Given the description of an element on the screen output the (x, y) to click on. 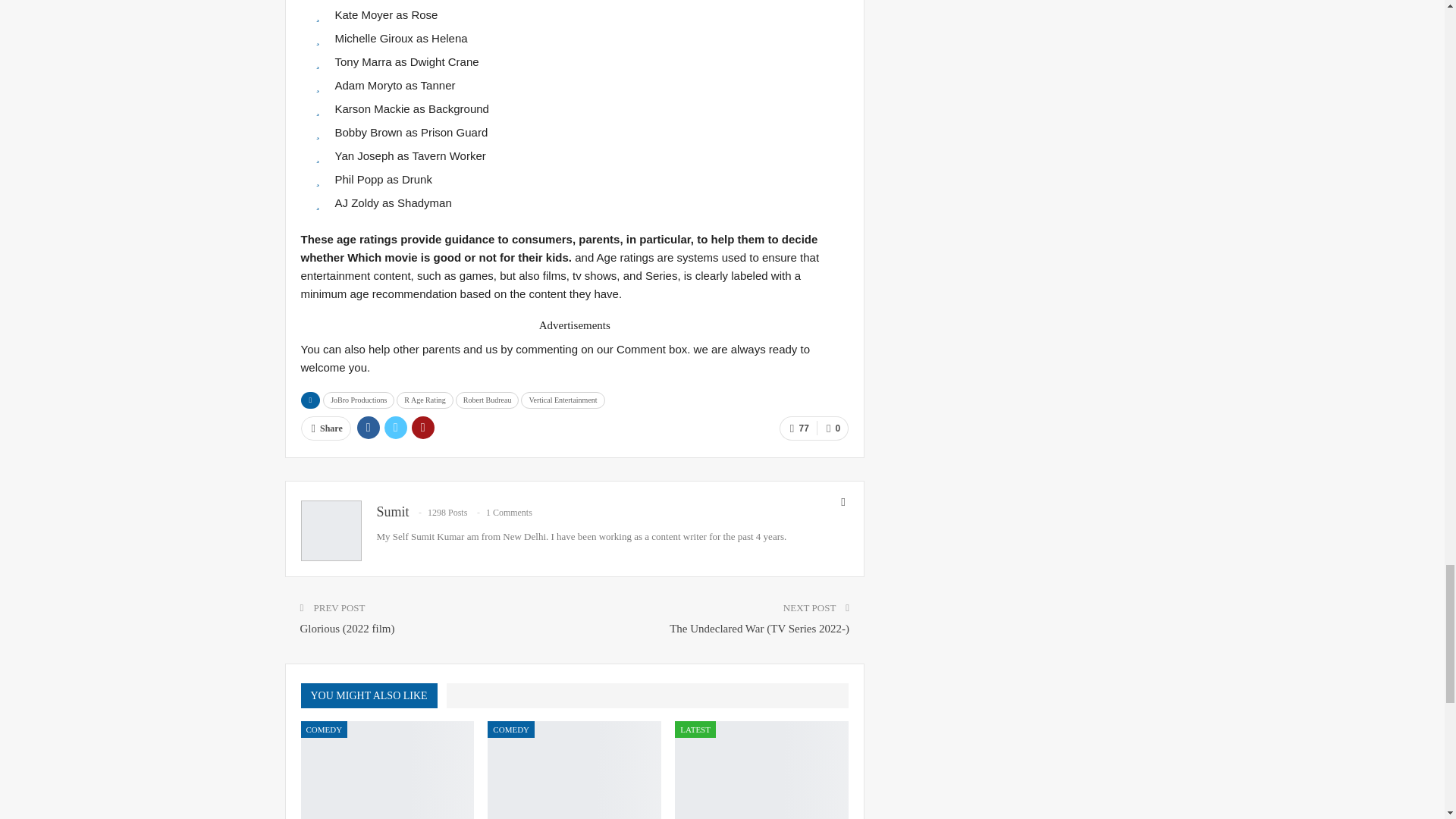
YOU MIGHT ALSO LIKE (372, 694)
Vertical Entertainment (562, 400)
R Age Rating (424, 400)
JoBro Productions (358, 400)
Sumit (392, 511)
Robert Budreau (487, 400)
American Dreamer Parents Guide: Is it appropriate for kids? (574, 770)
0 (832, 428)
